Given the description of an element on the screen output the (x, y) to click on. 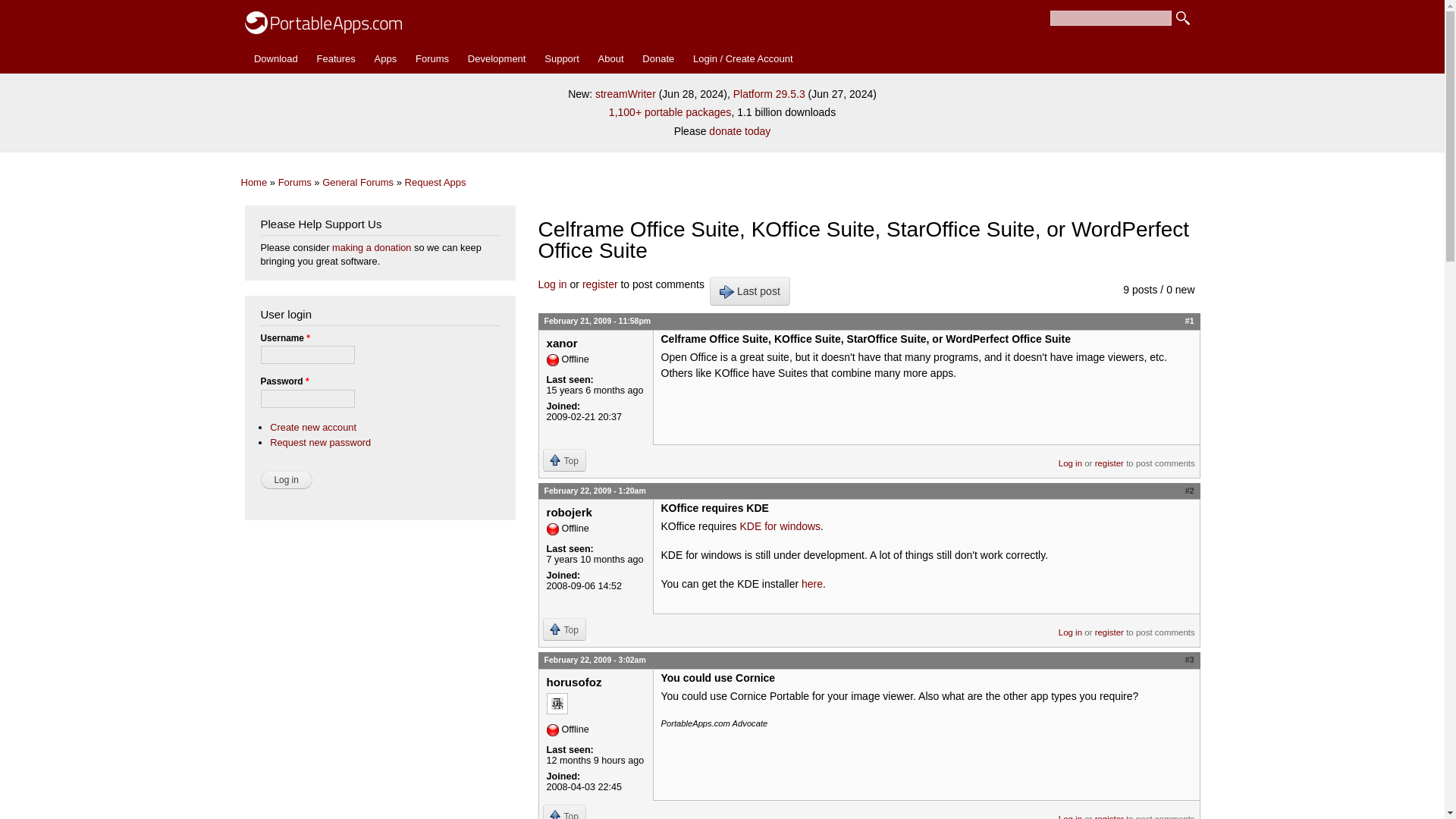
Portable App Directory (385, 59)
streamWriter (625, 93)
Apps (385, 59)
General Forums (357, 182)
Platform 29.5.3 (769, 93)
Enter the terms you wish to search for. (1109, 17)
Last post (750, 290)
register (599, 284)
Donate (658, 59)
Support (561, 59)
